Given the description of an element on the screen output the (x, y) to click on. 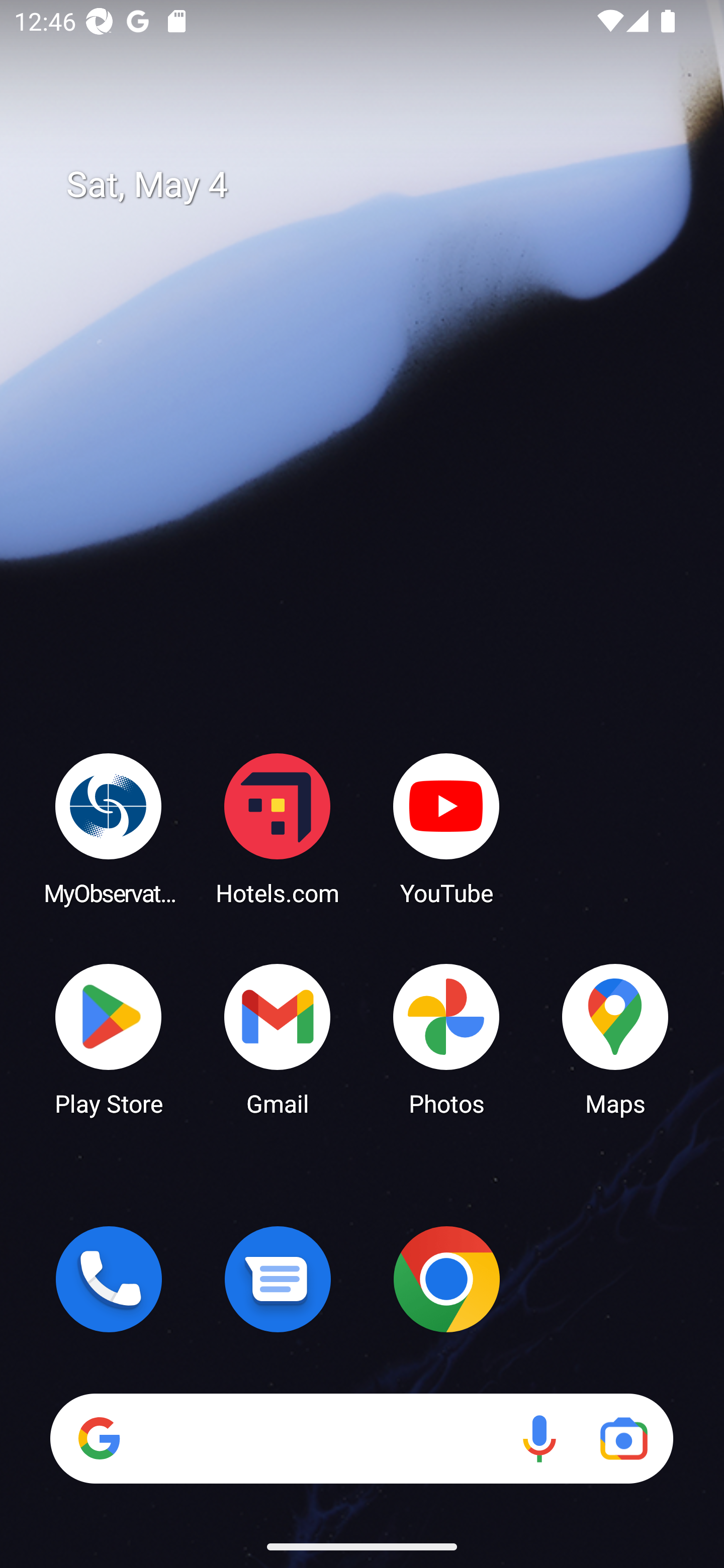
Sat, May 4 (375, 184)
MyObservatory (108, 828)
Hotels.com (277, 828)
YouTube (445, 828)
Play Store (108, 1038)
Gmail (277, 1038)
Photos (445, 1038)
Maps (615, 1038)
Phone (108, 1279)
Messages (277, 1279)
Chrome (446, 1279)
Search Voice search Google Lens (361, 1438)
Voice search (539, 1438)
Google Lens (623, 1438)
